Given the description of an element on the screen output the (x, y) to click on. 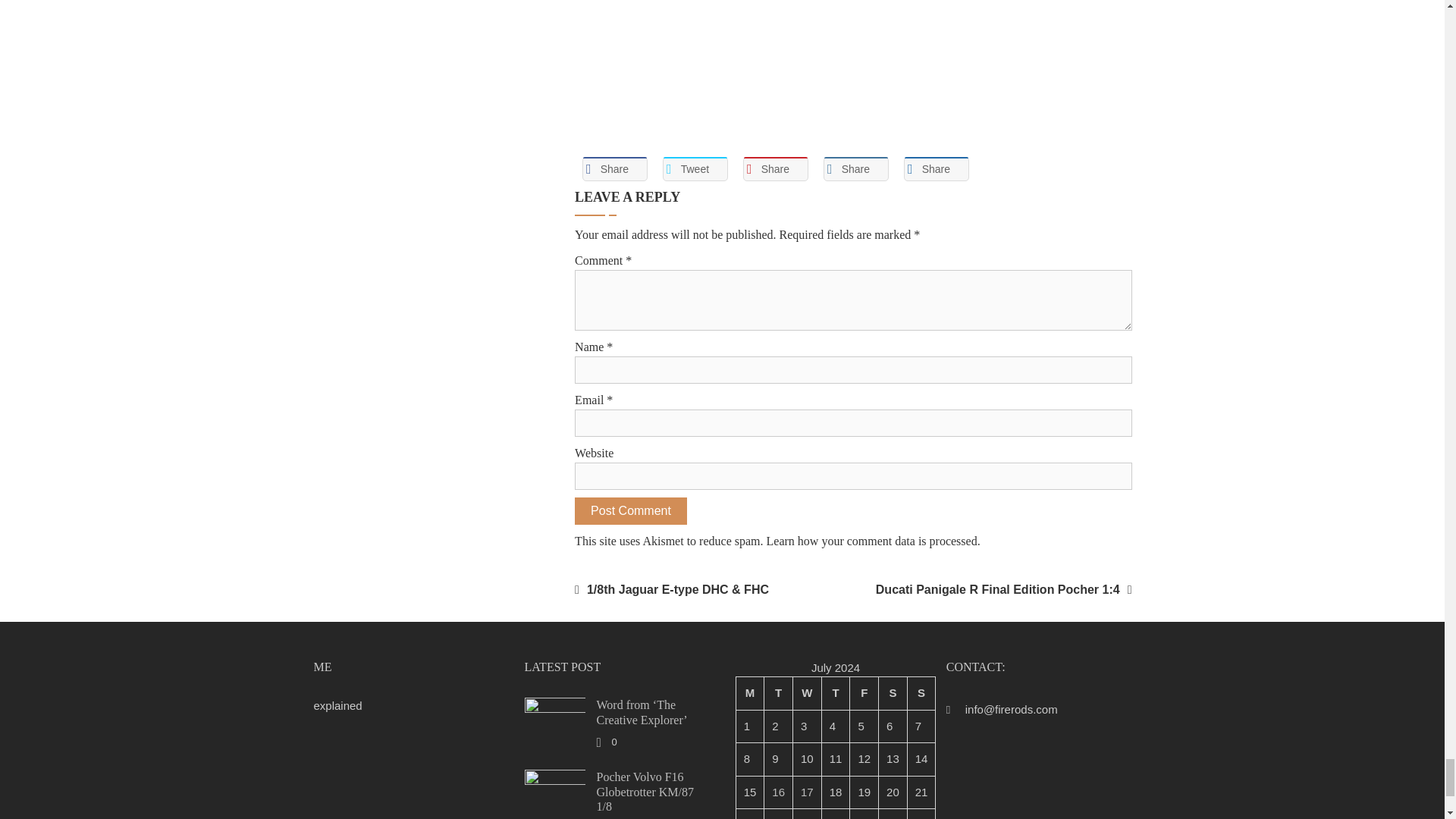
Share on Pinterest (775, 168)
Post Comment (631, 510)
Share on Digg (936, 168)
Share on LinkedIn (856, 168)
Share on Facebook (614, 168)
Share on Twitter (695, 168)
